Given the description of an element on the screen output the (x, y) to click on. 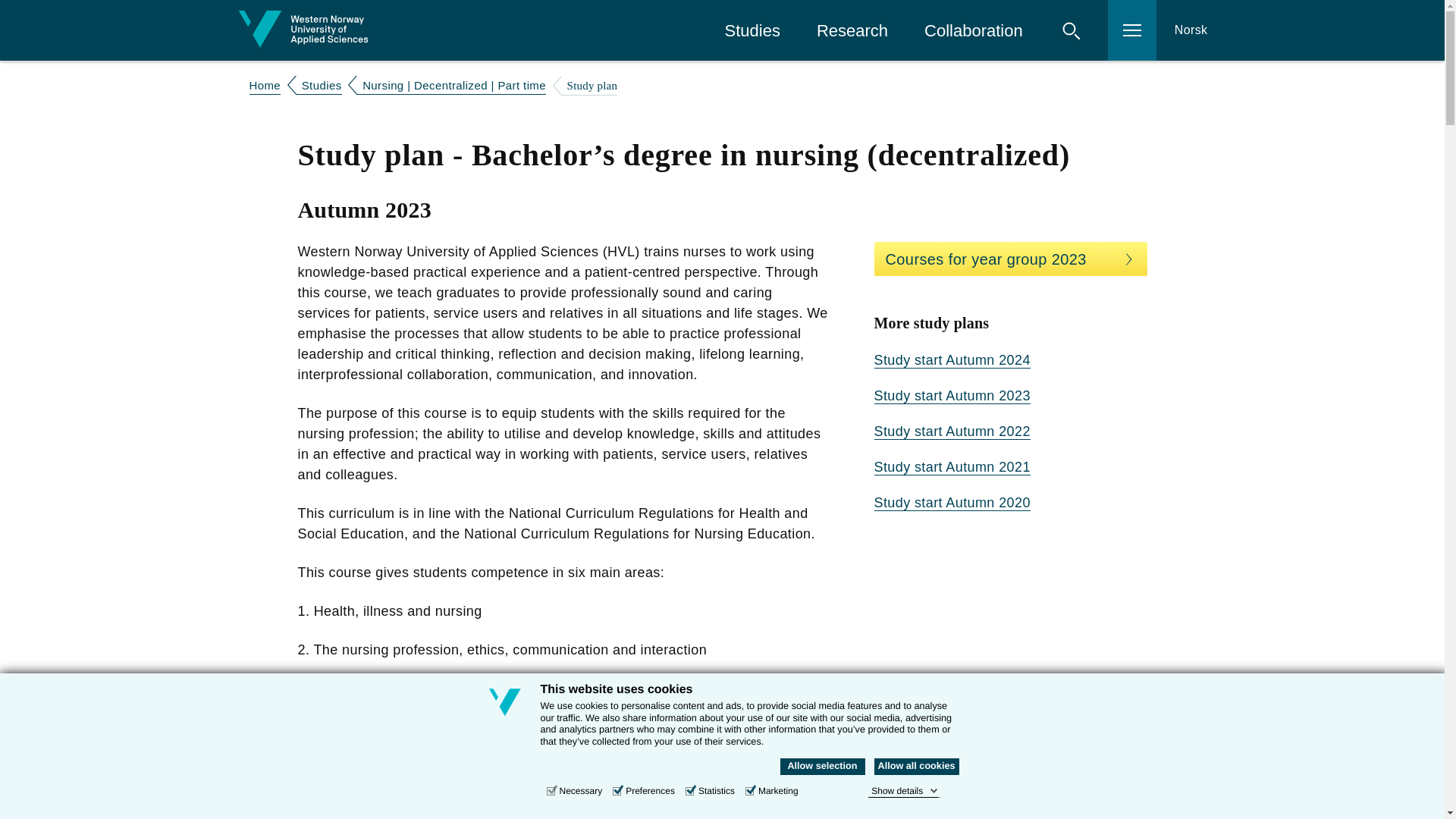
Allow selection (821, 766)
Show details (903, 790)
Allow all cookies (915, 766)
